Given the description of an element on the screen output the (x, y) to click on. 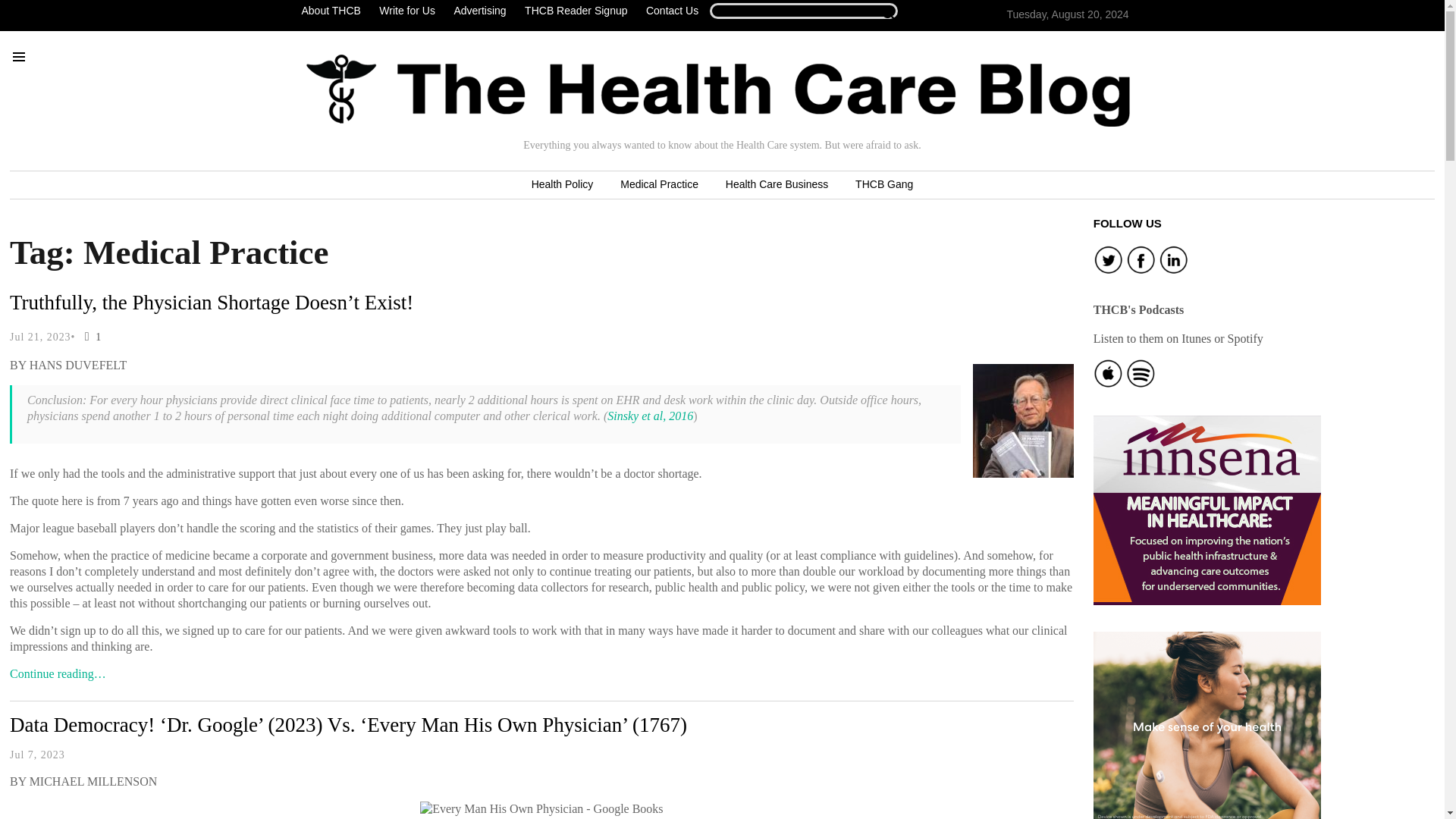
THCB Reader Signup (575, 10)
Advertising (479, 10)
1 (89, 337)
THCB Gang (883, 184)
Contact Us (672, 10)
Sinsky et al, 2016 (650, 415)
Home (718, 90)
Health Policy (562, 184)
Health Care Business (776, 184)
Medical Practice (659, 184)
